Given the description of an element on the screen output the (x, y) to click on. 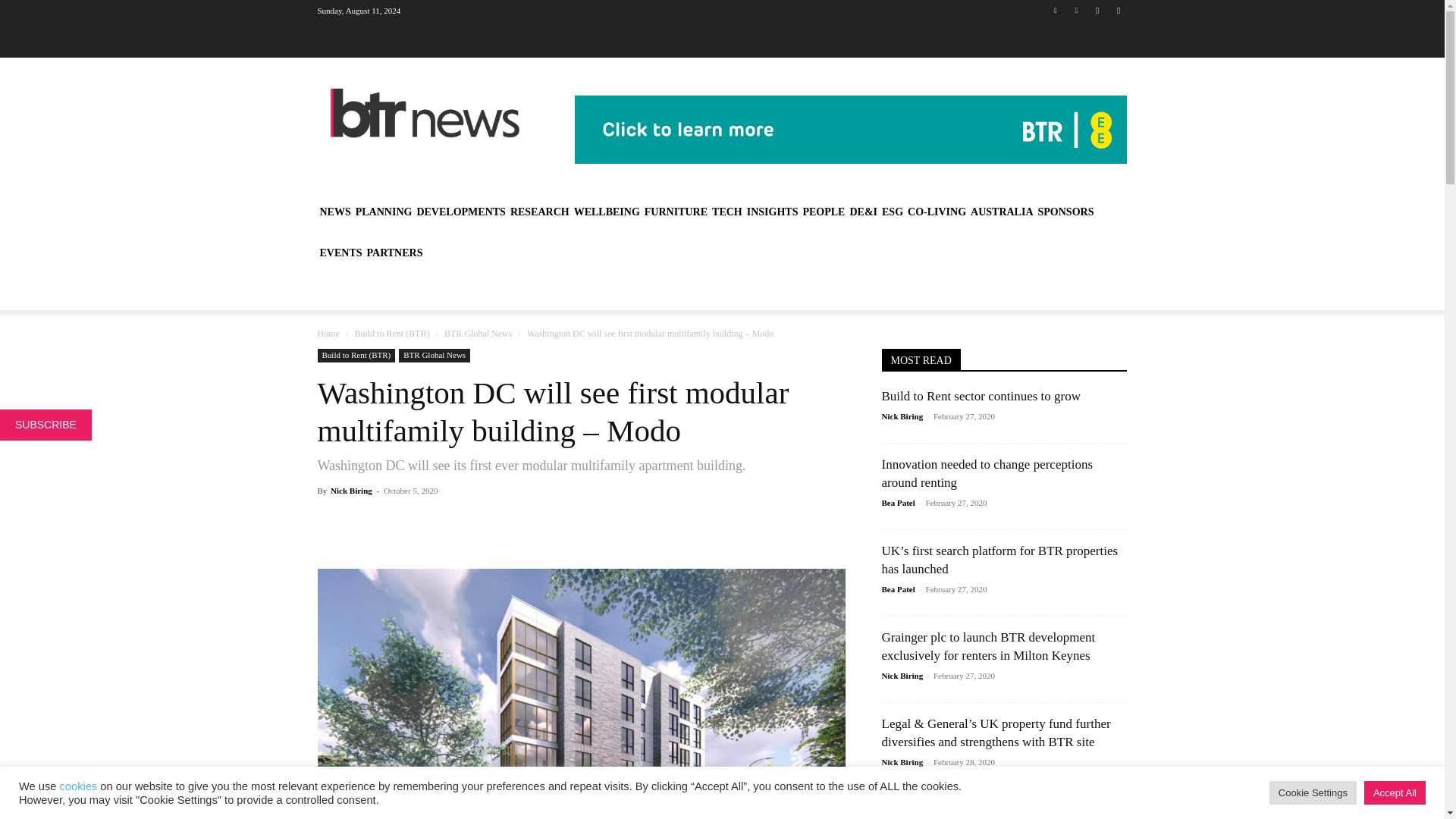
Facebook (1097, 9)
Linkedin (1055, 9)
Twitter (1075, 9)
Instagram (1117, 9)
BTR News (425, 113)
